Given the description of an element on the screen output the (x, y) to click on. 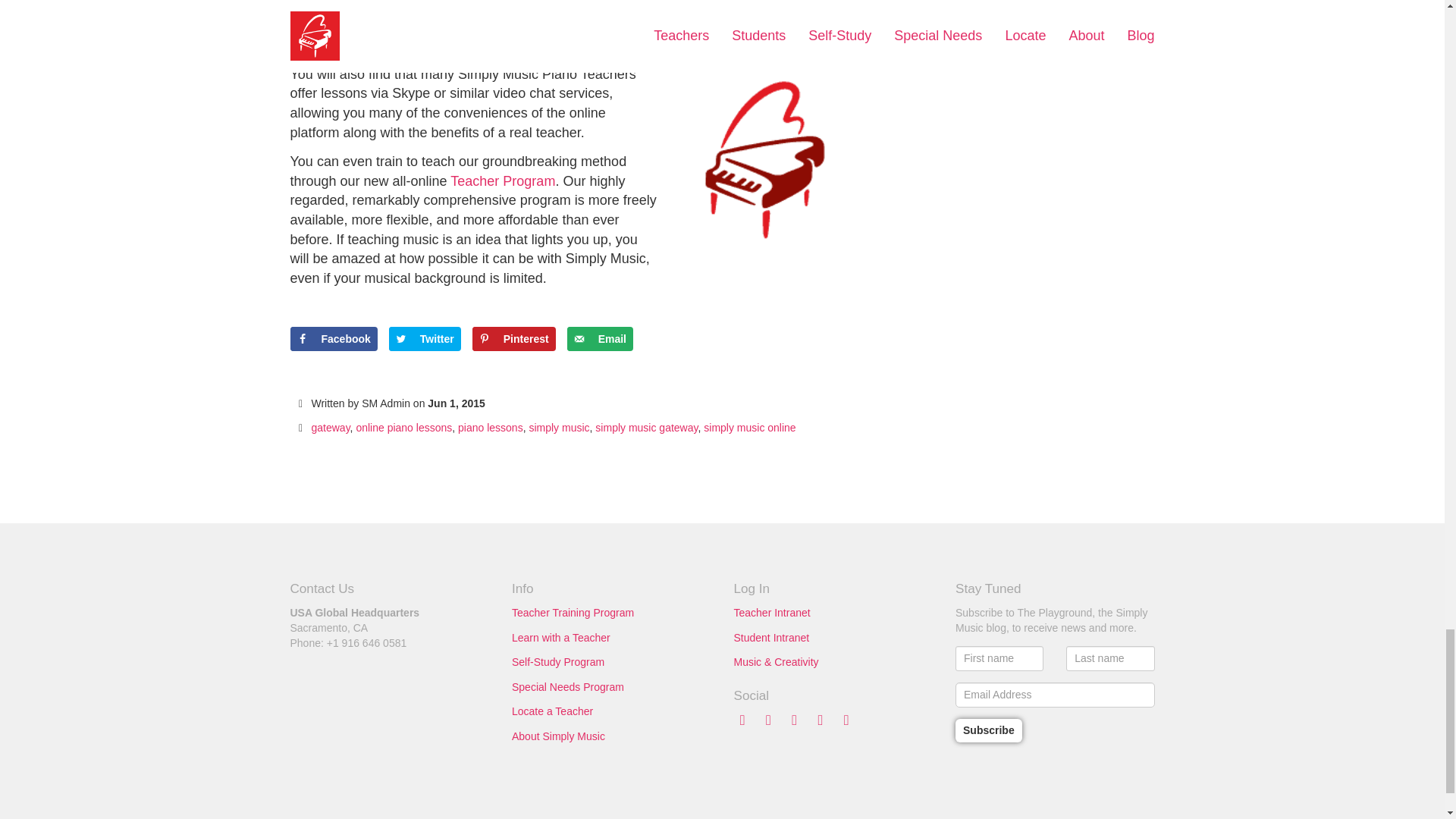
Email (600, 338)
simply music (558, 427)
Subscribe (988, 730)
online piano lessons (403, 427)
simply music gateway (646, 427)
Share on Facebook (333, 338)
simply music online (748, 427)
piano lessons (490, 427)
Pinterest (513, 338)
gateway (330, 427)
